Given the description of an element on the screen output the (x, y) to click on. 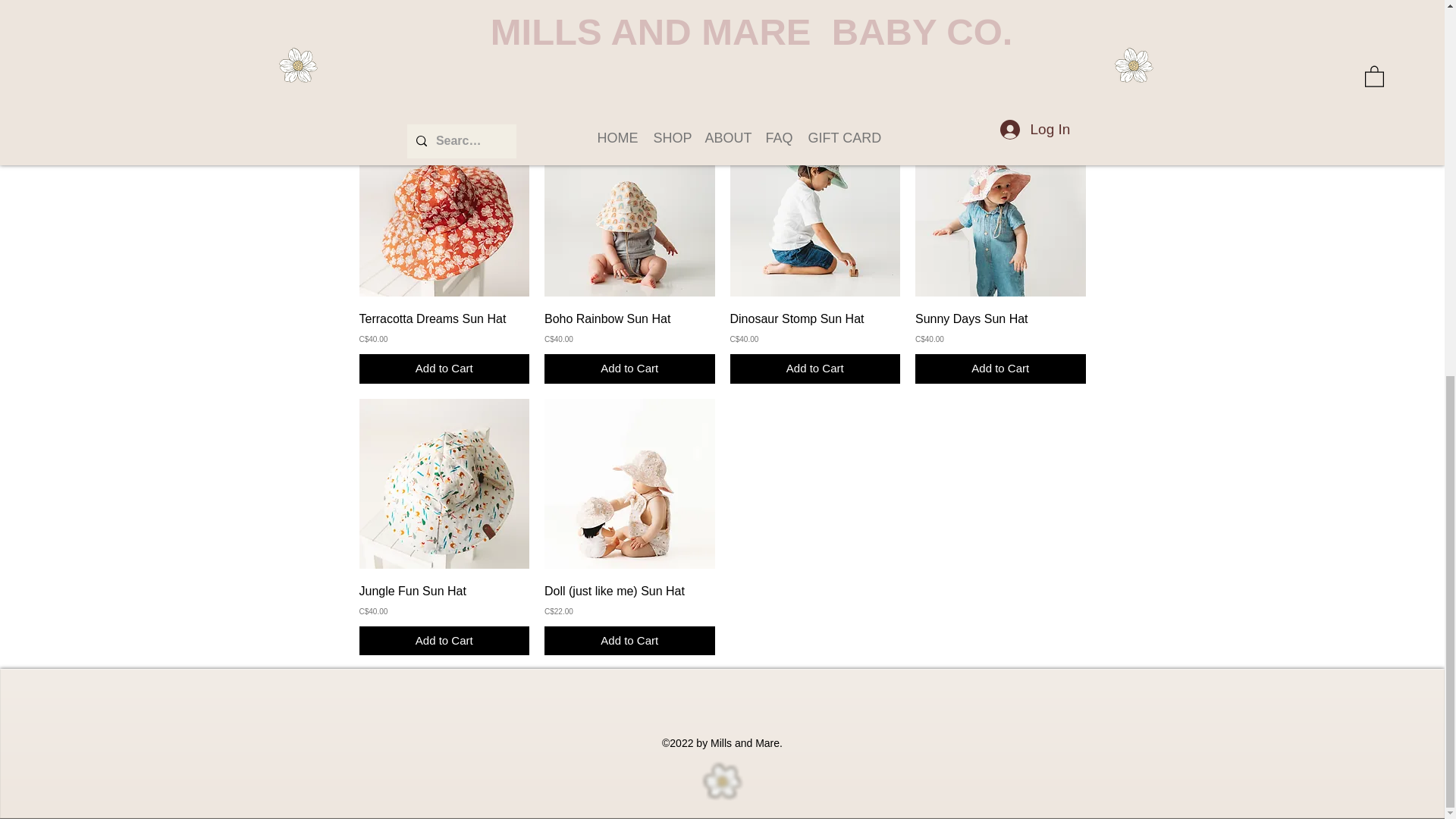
Add to Cart (1000, 96)
Add to Cart (444, 96)
Add to Cart (814, 96)
Add to Cart (629, 96)
Add to Cart (444, 368)
